Given the description of an element on the screen output the (x, y) to click on. 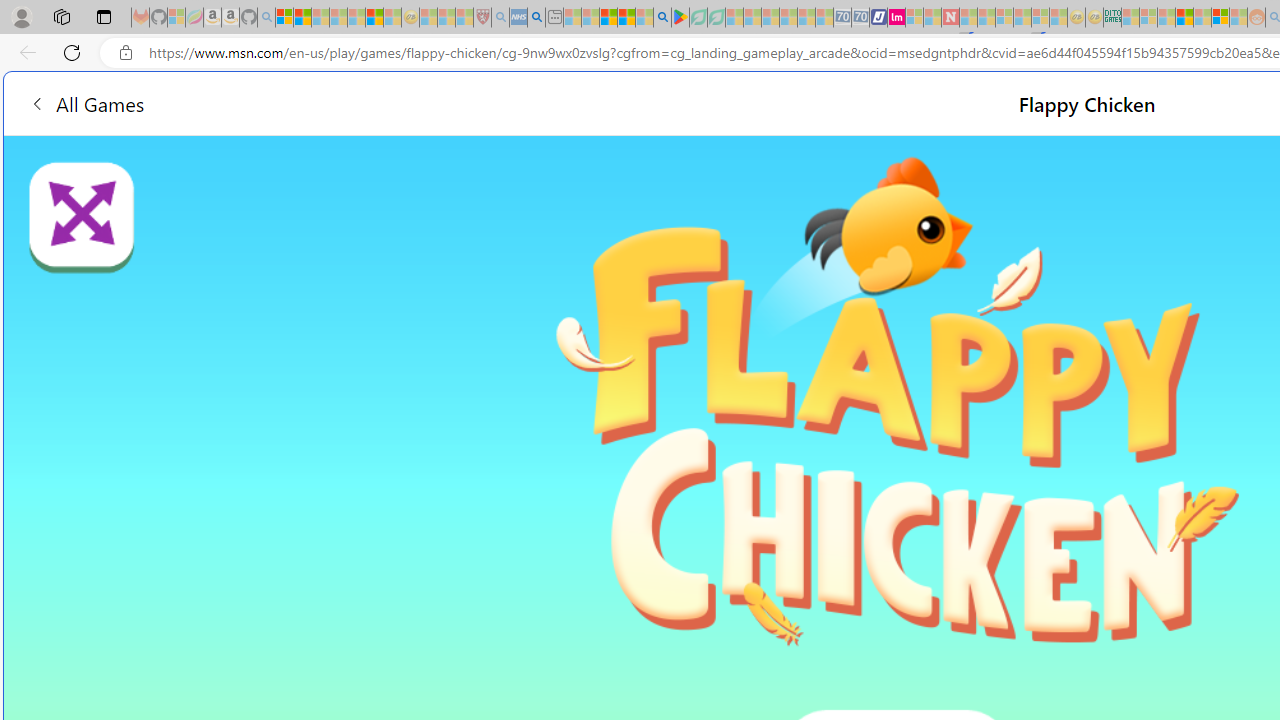
Kinda Frugal - MSN - Sleeping (1202, 17)
